Given the description of an element on the screen output the (x, y) to click on. 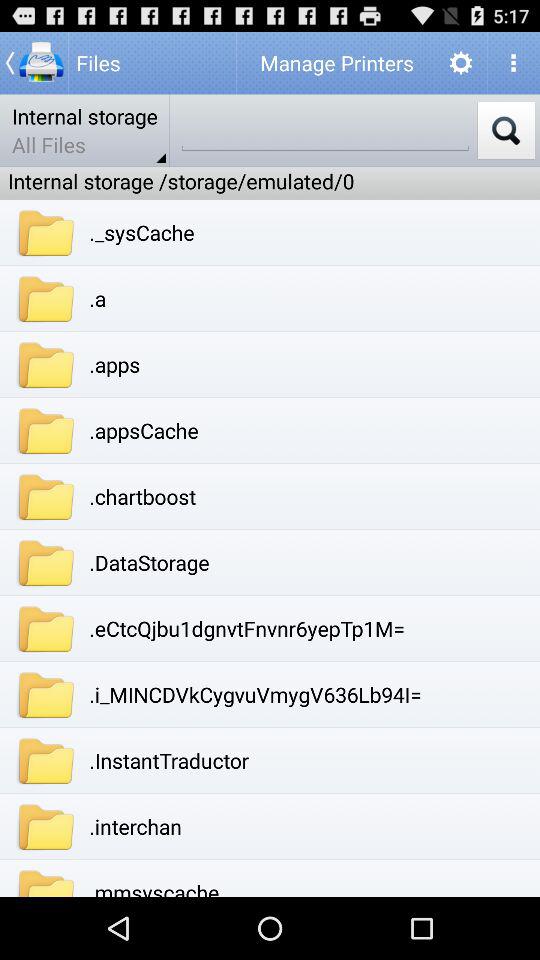
turn on icon above the internal storage app (34, 62)
